Given the description of an element on the screen output the (x, y) to click on. 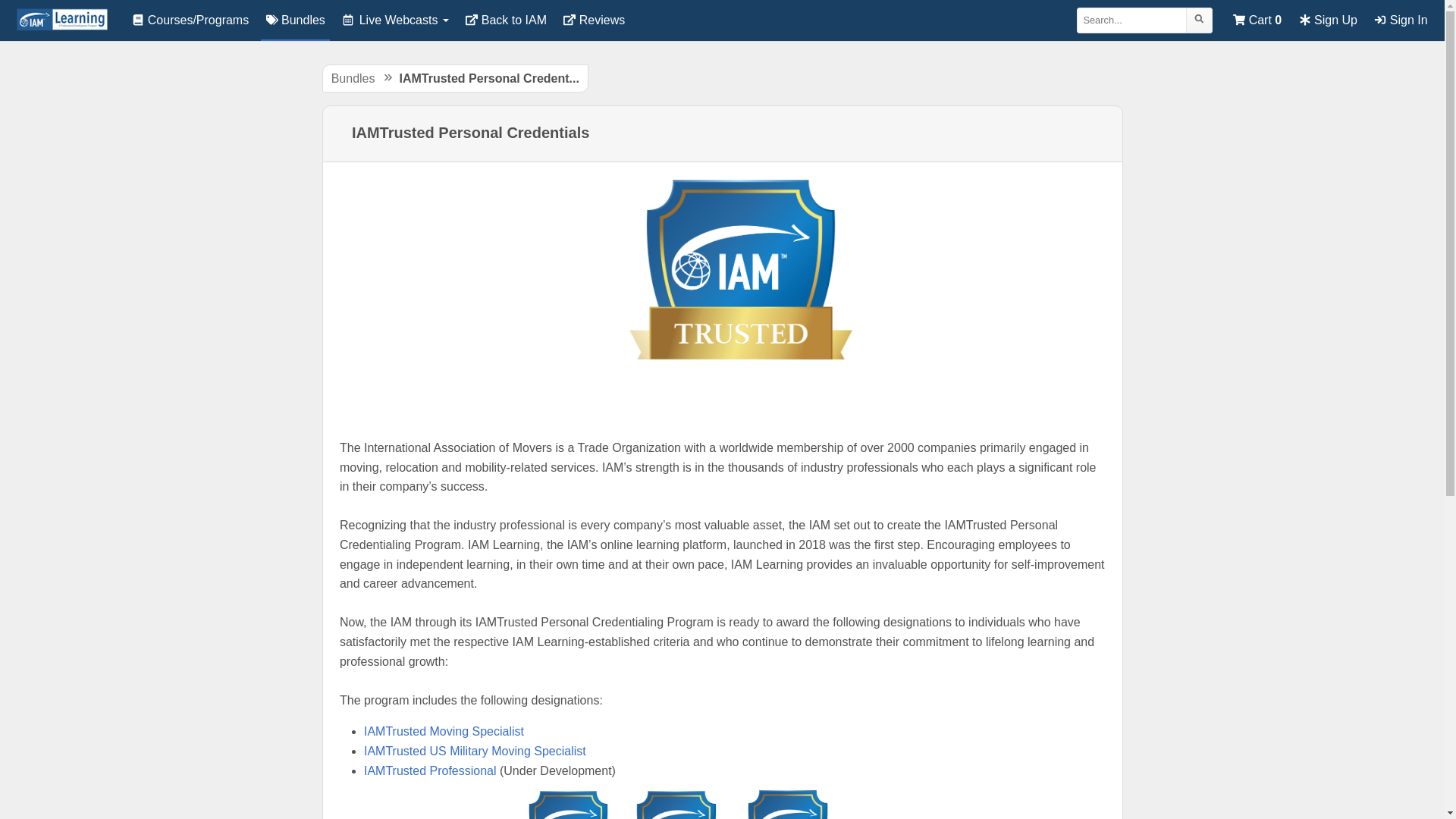
IAMTrusted Professional  (431, 770)
Cart 0 (1257, 20)
Live Webcasts (394, 20)
Bundles (295, 20)
Sign In (1401, 20)
Back to IAM (506, 20)
Bundles (353, 78)
Live Webcasts (394, 20)
IAM Learning (62, 20)
IAMTrusted Moving Specialist (444, 730)
